Given the description of an element on the screen output the (x, y) to click on. 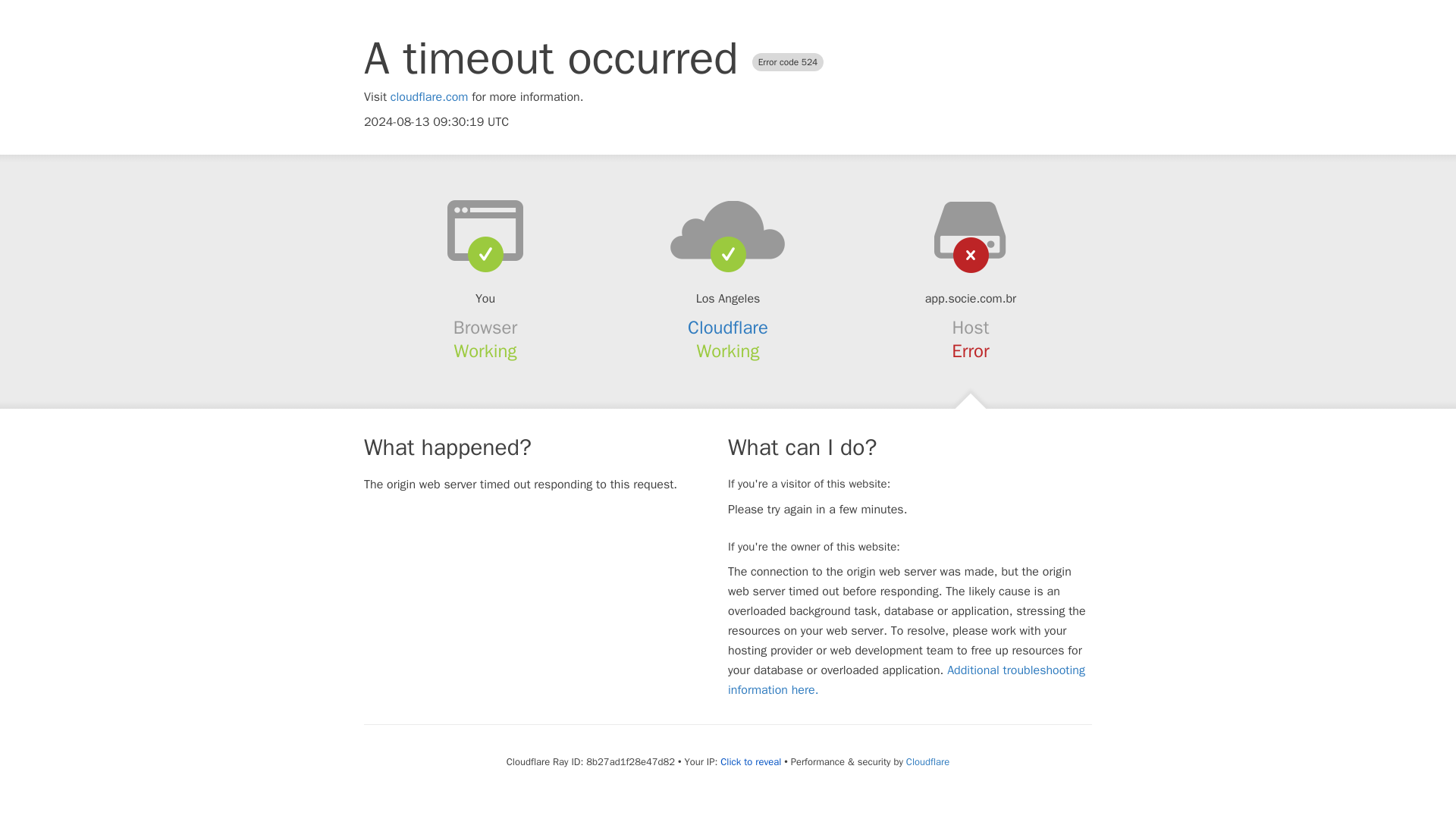
Cloudflare (727, 327)
Click to reveal (750, 762)
Cloudflare (927, 761)
Additional troubleshooting information here. (906, 679)
cloudflare.com (429, 96)
